Given the description of an element on the screen output the (x, y) to click on. 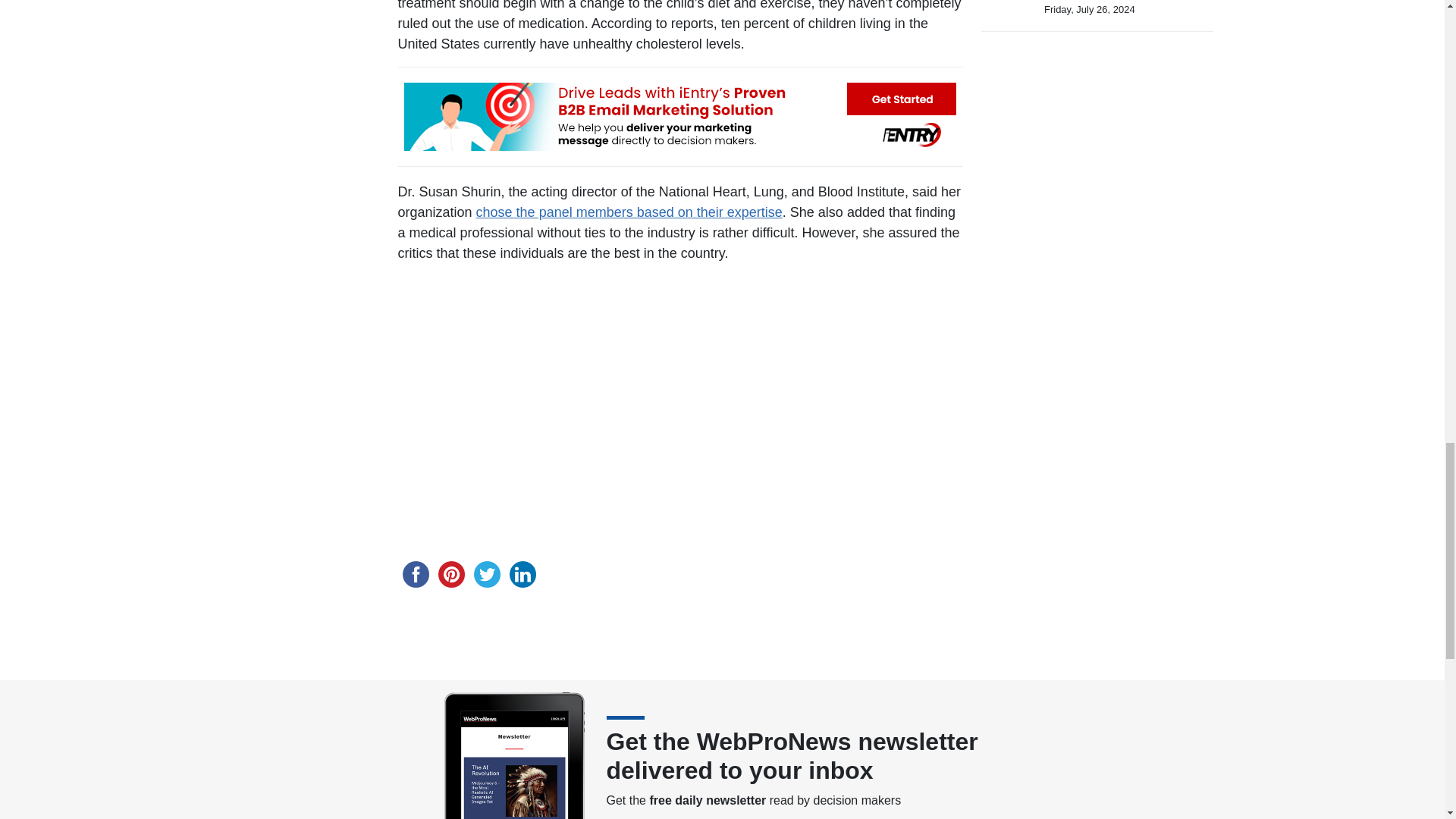
twitter (485, 574)
pinterest (450, 574)
facebook (414, 574)
